Given the description of an element on the screen output the (x, y) to click on. 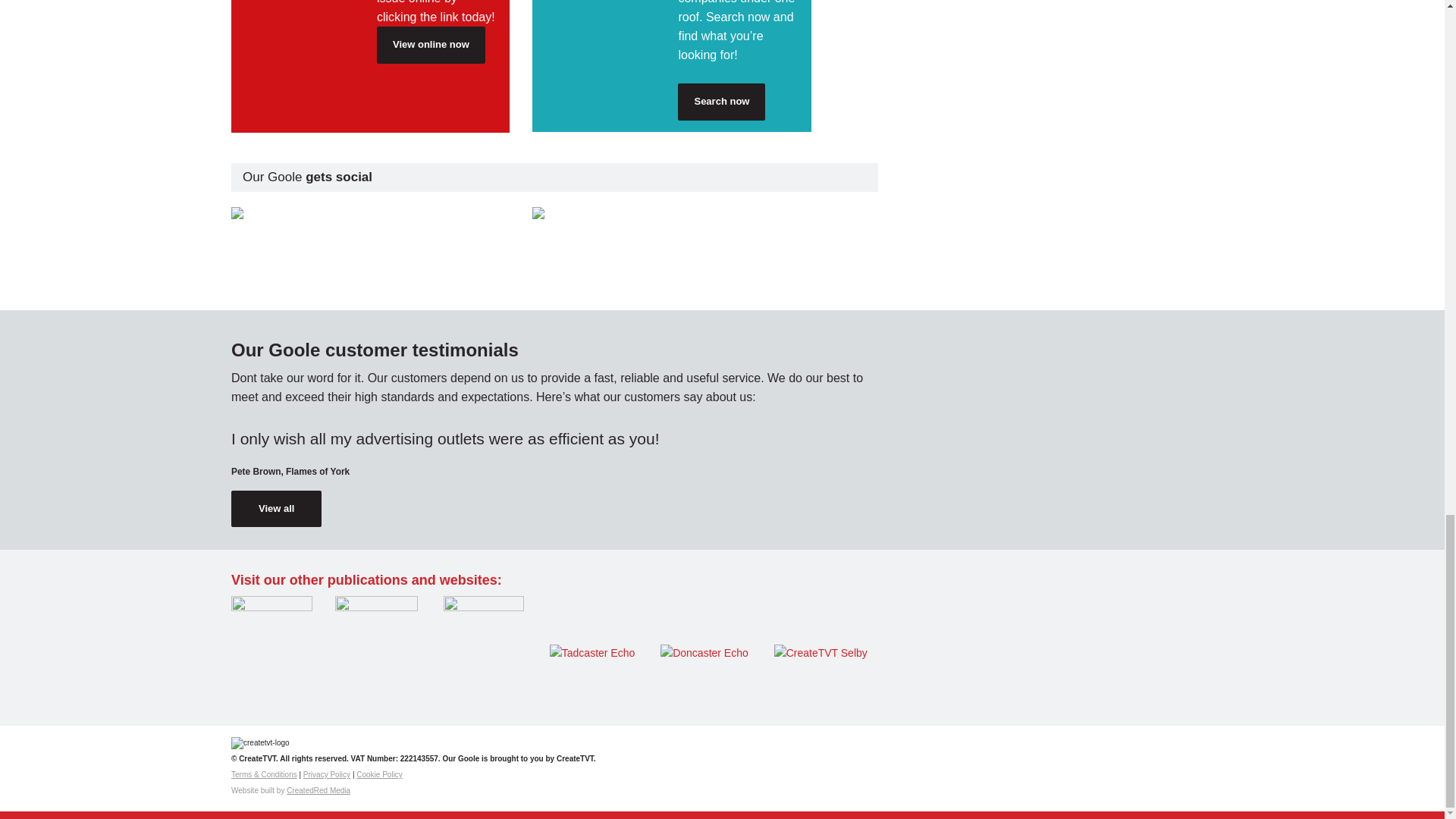
Cookie Policy (379, 774)
View all (276, 508)
View online now (430, 44)
Search now (721, 101)
Follow us on Twitter (370, 213)
CreatedRed Media (318, 790)
Find us and like on Facebook (671, 213)
Privacy Policy (326, 774)
